Given the description of an element on the screen output the (x, y) to click on. 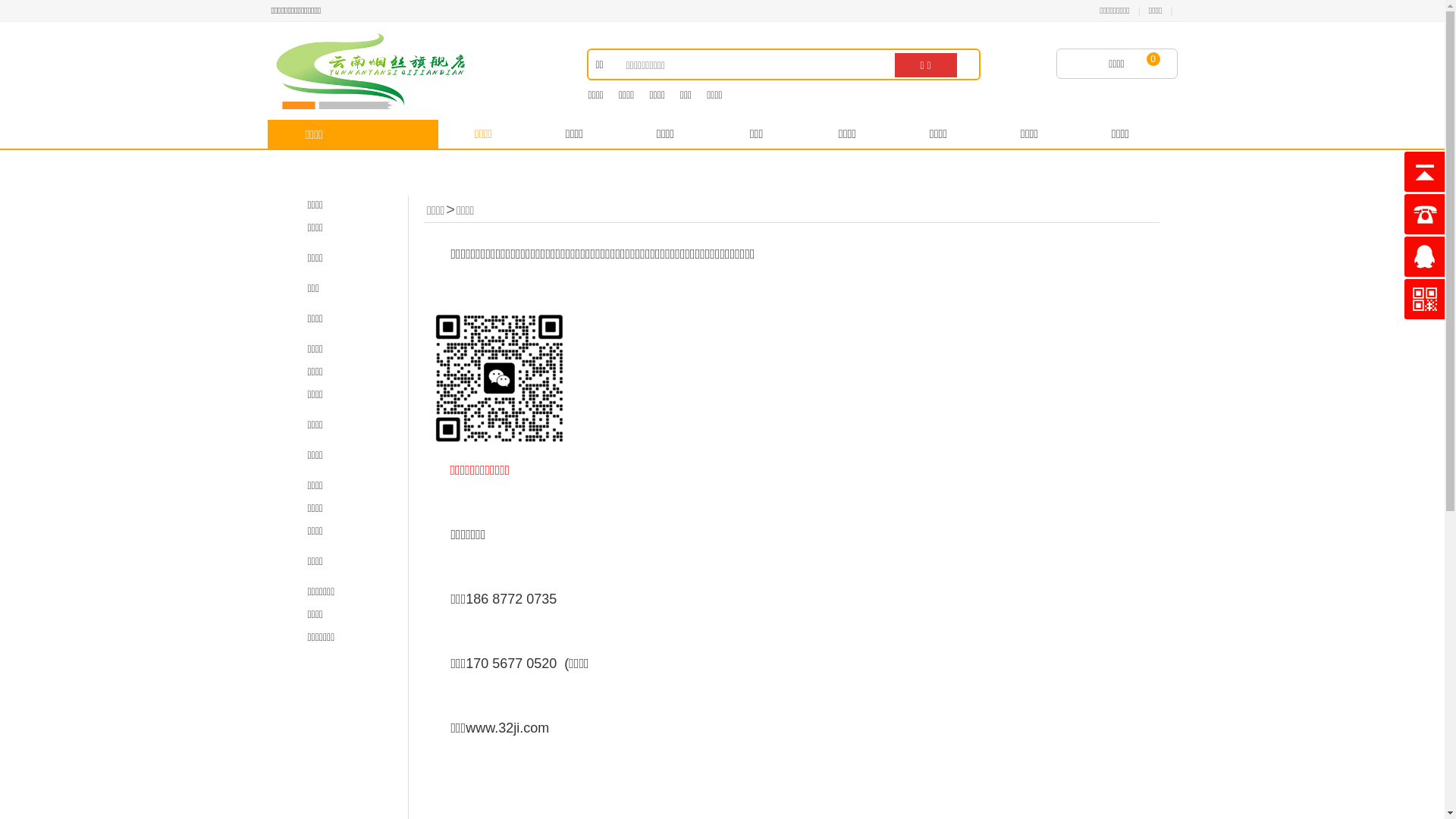
www.32ji.com Element type: text (507, 727)
